Given the description of an element on the screen output the (x, y) to click on. 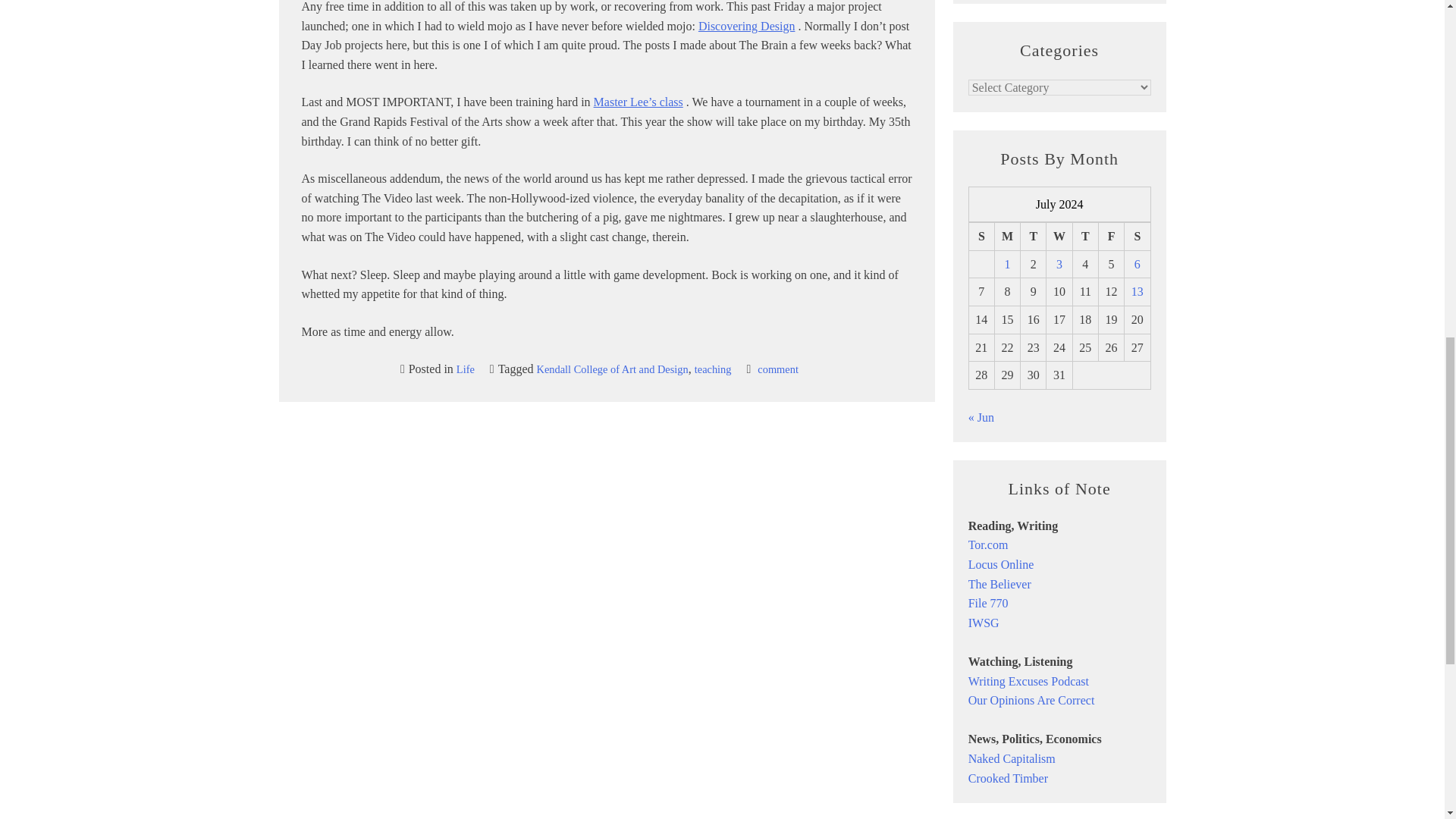
3 (1059, 264)
Life (465, 369)
teaching (713, 369)
Monday (1007, 236)
Locus Online (1000, 563)
6 (1137, 264)
Kendall College of Art and Design (612, 369)
File 770 (988, 603)
1 (1007, 264)
Friday (1110, 236)
Sunday (981, 236)
Wednesday (1058, 236)
The Believer (999, 584)
Thursday (1084, 236)
Tuesday (1033, 236)
